Given the description of an element on the screen output the (x, y) to click on. 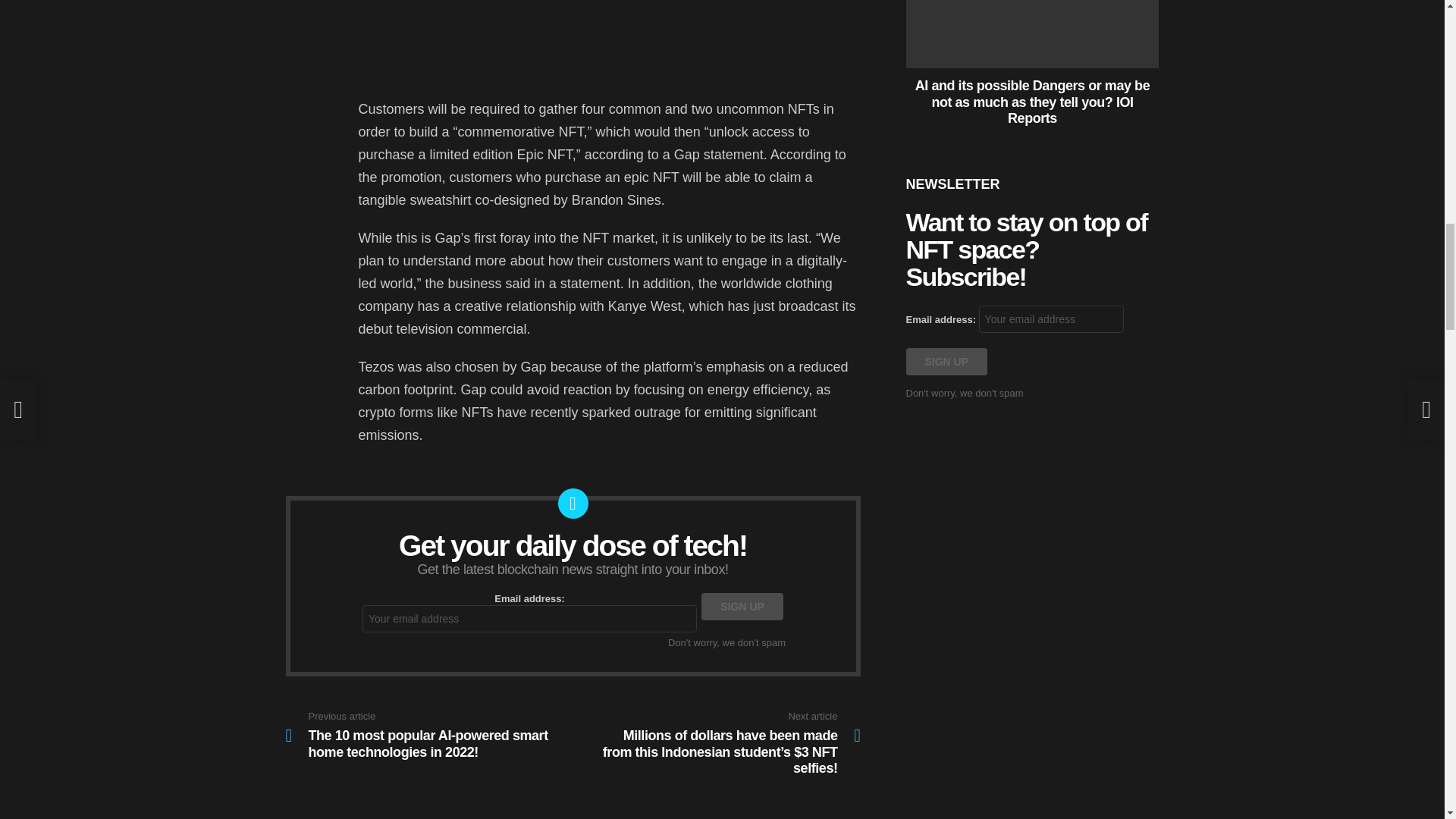
Sign up (742, 605)
Sign up (946, 361)
Sign up (742, 605)
